Given the description of an element on the screen output the (x, y) to click on. 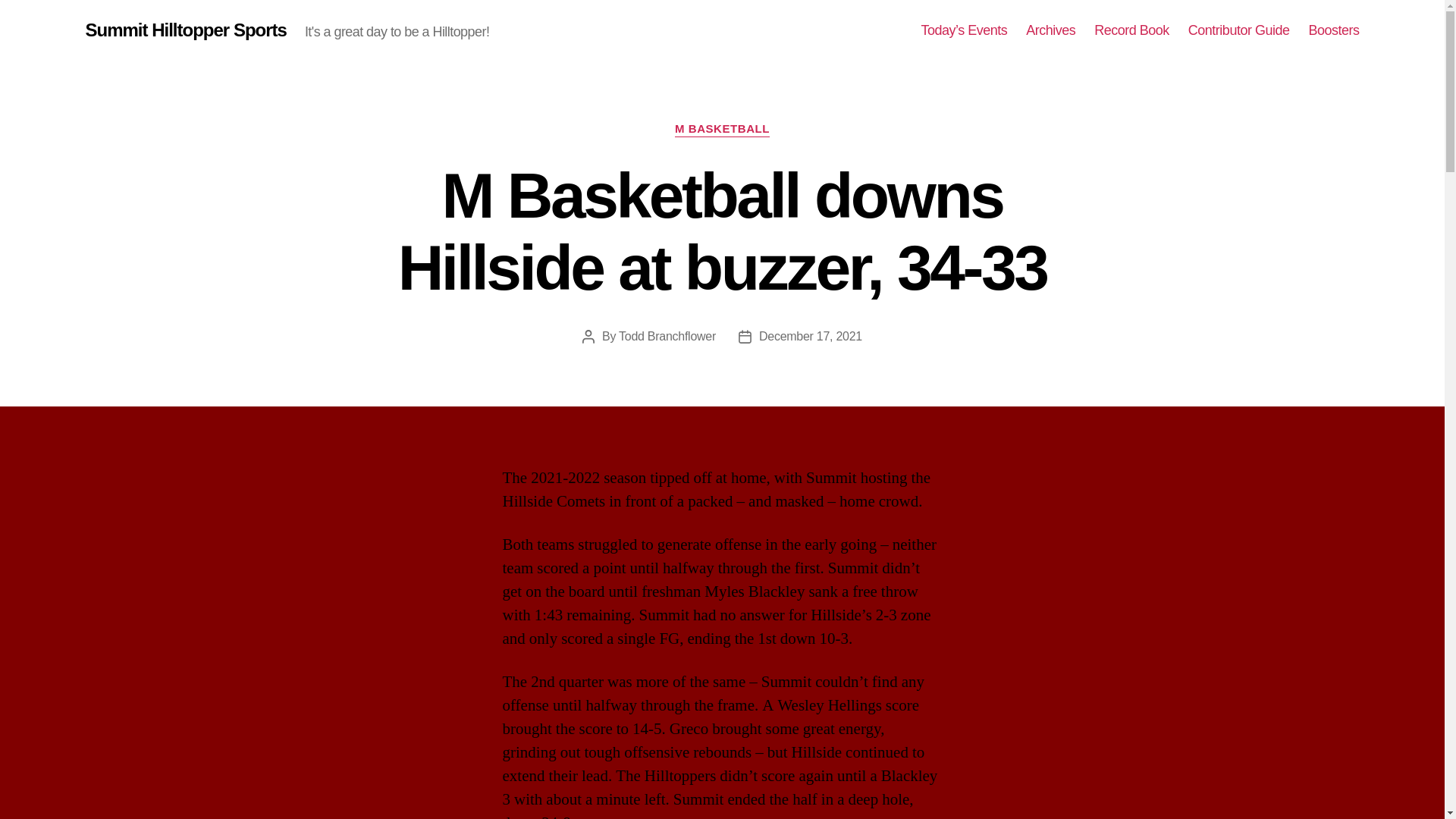
Todd Branchflower (667, 336)
Contributor Guide (1239, 30)
M BASKETBALL (722, 129)
Archives (1050, 30)
Summit Hilltopper Sports (184, 30)
December 17, 2021 (809, 336)
Record Book (1131, 30)
Boosters (1332, 30)
